Given the description of an element on the screen output the (x, y) to click on. 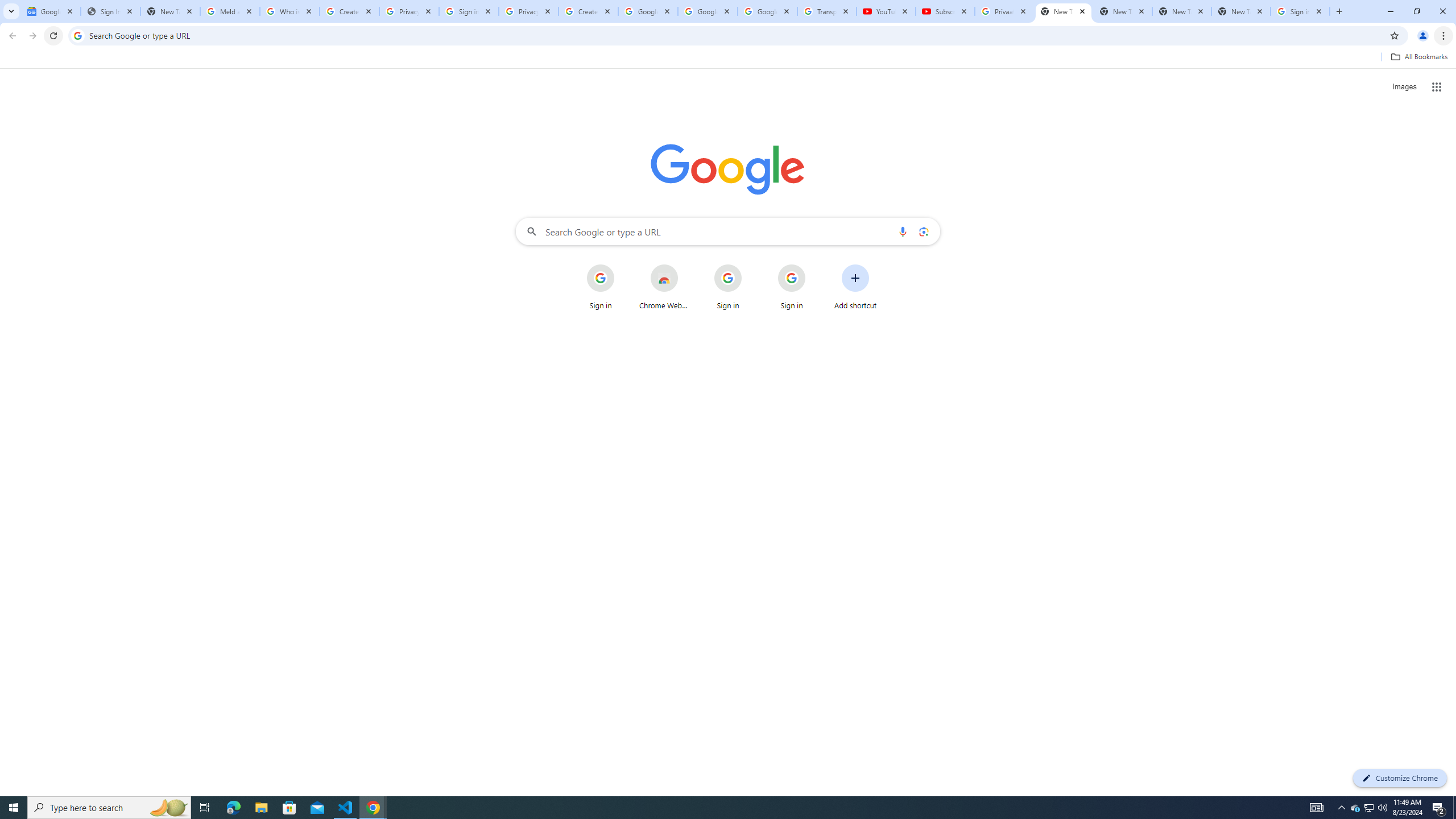
Bookmarks (728, 58)
Who is my administrator? - Google Account Help (289, 11)
Search by image (922, 230)
New Tab (1063, 11)
More actions for Sign in shortcut (814, 265)
YouTube (885, 11)
Sign in - Google Accounts (468, 11)
Search Google or type a URL (727, 230)
